Given the description of an element on the screen output the (x, y) to click on. 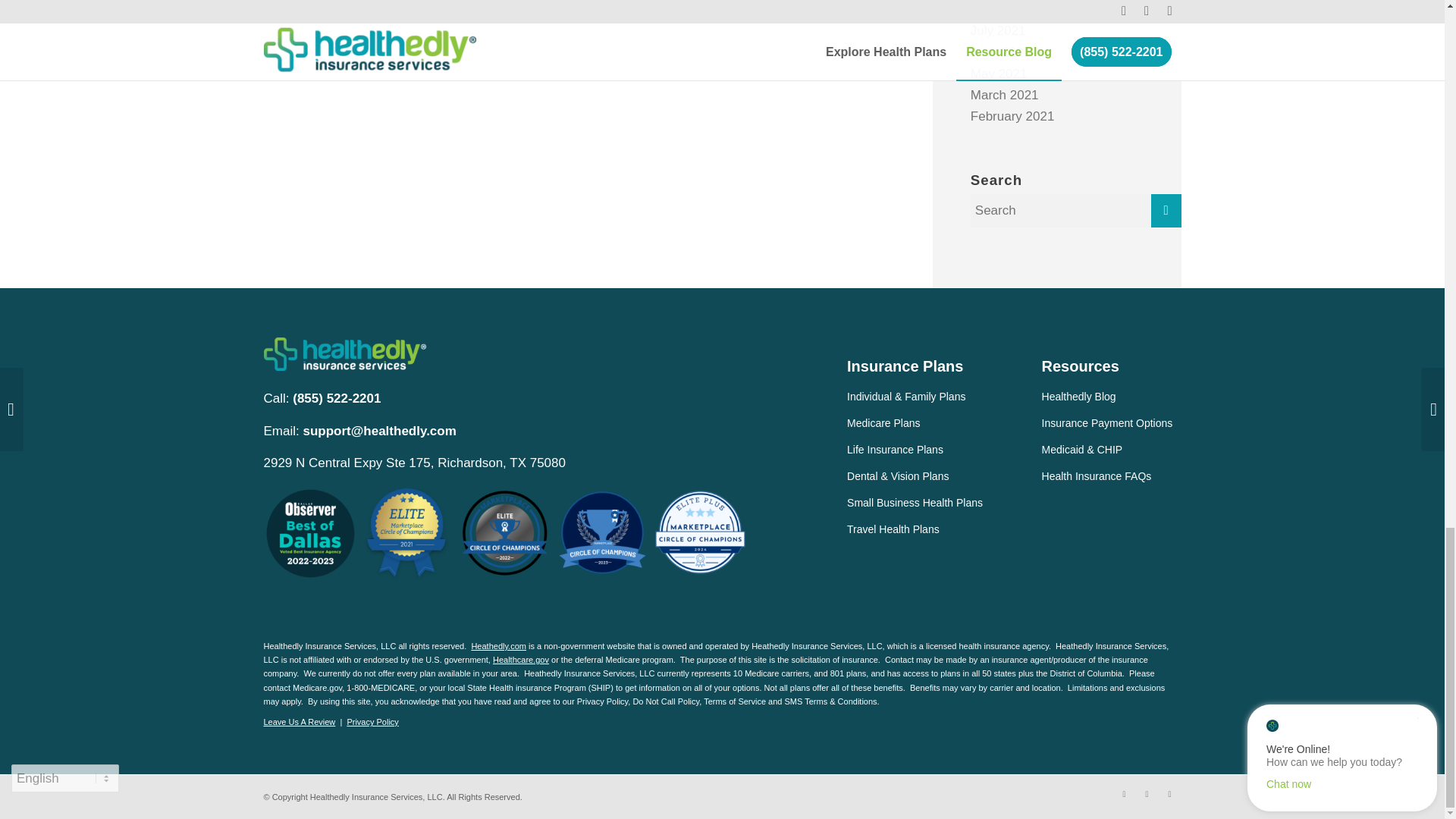
Instagram (1169, 793)
Twitter (1146, 793)
Facebook (1124, 793)
